Given the description of an element on the screen output the (x, y) to click on. 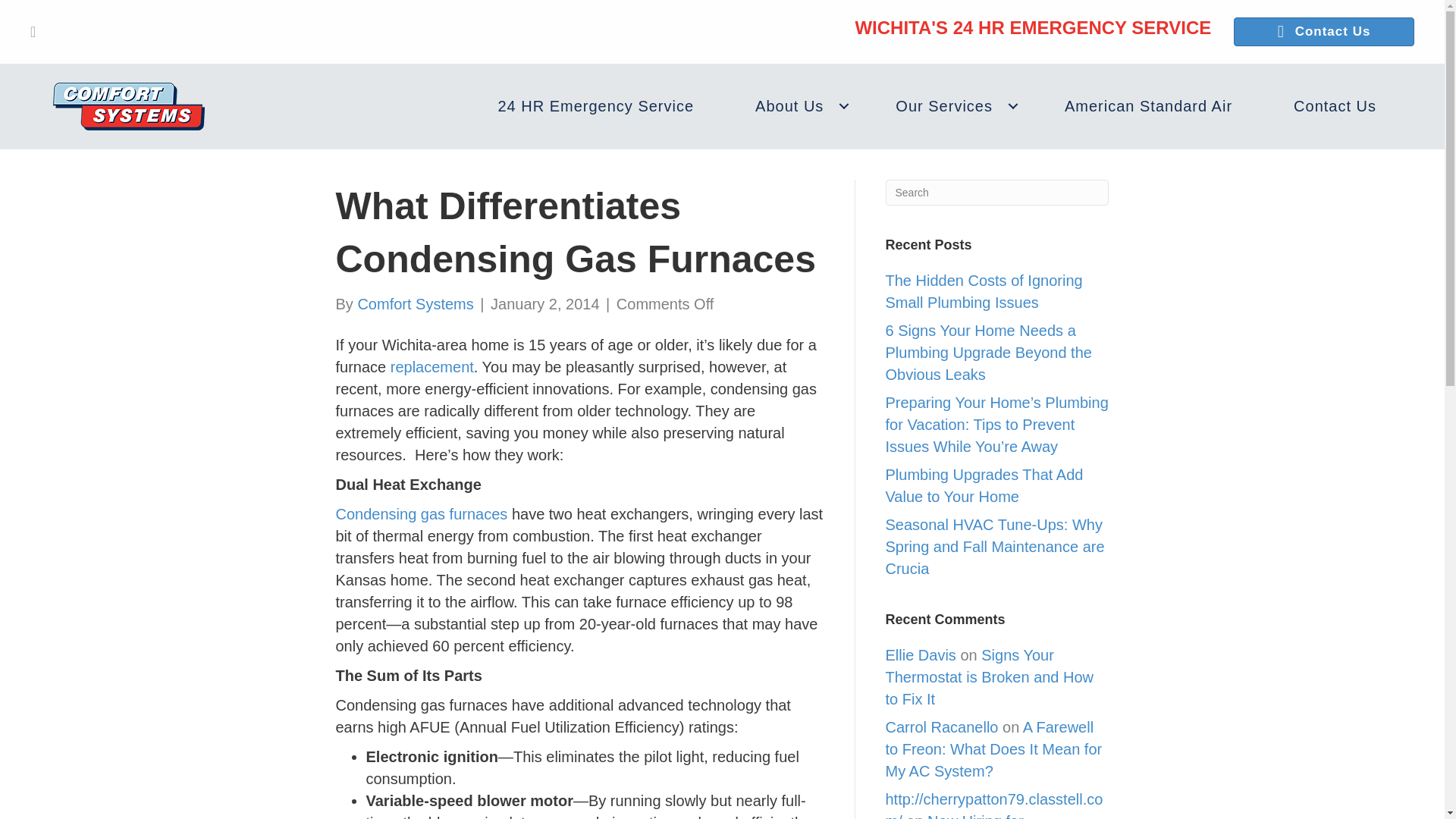
Contact Us (1334, 106)
Condensing gas furnaces (420, 514)
24 HR Emergency Service (595, 106)
American Standard Air (1147, 106)
replacement (432, 366)
About Us (794, 106)
Search (997, 192)
Comfort Systems (414, 303)
Contact Us (1323, 31)
comfortlogo-menu (128, 106)
The Hidden Costs of Ignoring Small Plumbing Issues (984, 291)
Type and press Enter to search. (997, 192)
Our Services (948, 106)
